Given the description of an element on the screen output the (x, y) to click on. 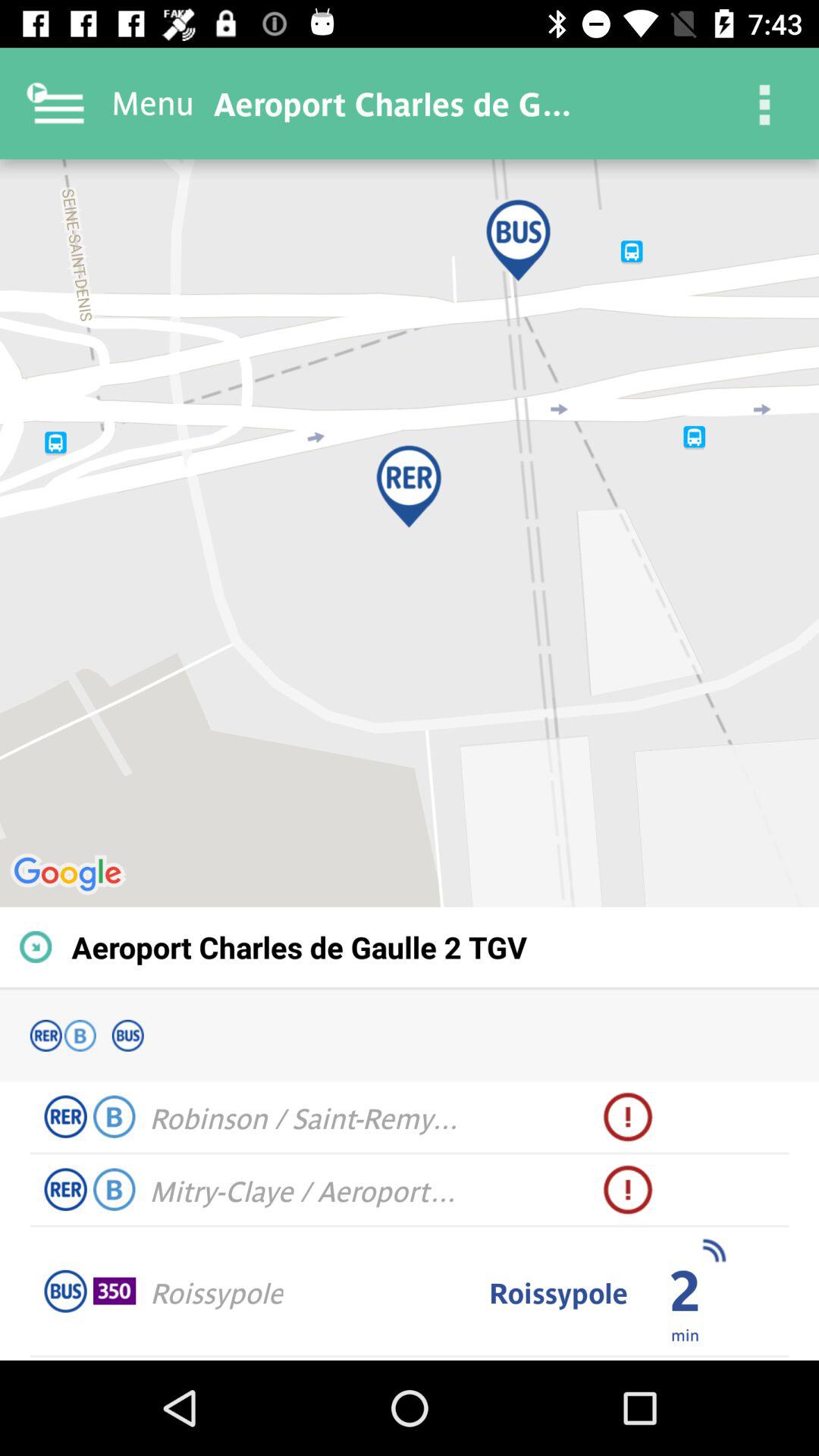
tap the icon at the top right corner (763, 103)
